Given the description of an element on the screen output the (x, y) to click on. 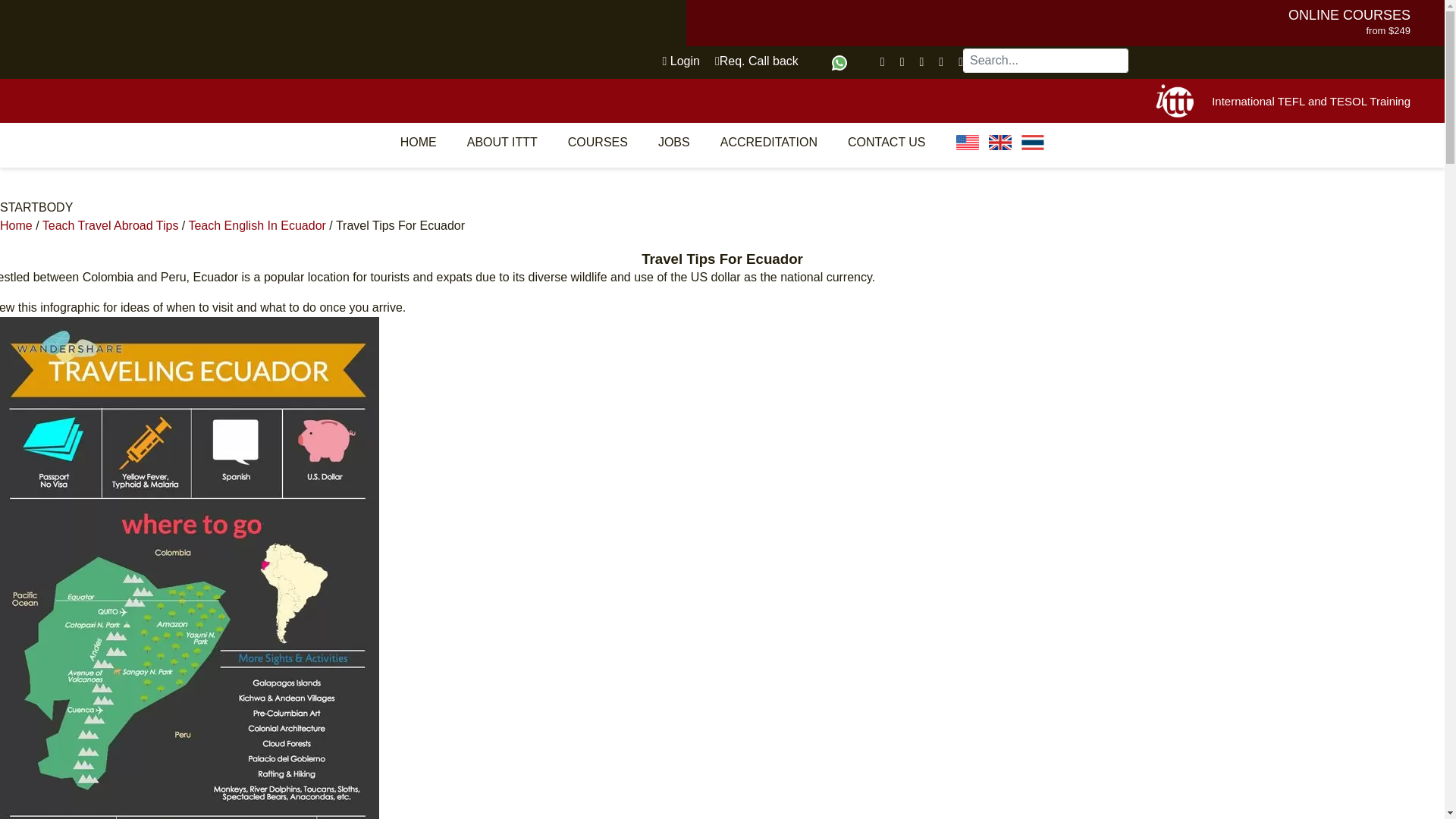
ACCREDITATION (768, 141)
Req. Call back (755, 61)
UK Office (999, 142)
USA Office (967, 142)
Login (680, 61)
ABOUT ITTT (502, 141)
CONTACT US (886, 141)
International TEFL and TESOL Training (1310, 101)
Chat with us on Whatsapp (839, 62)
COURSES (598, 141)
